Given the description of an element on the screen output the (x, y) to click on. 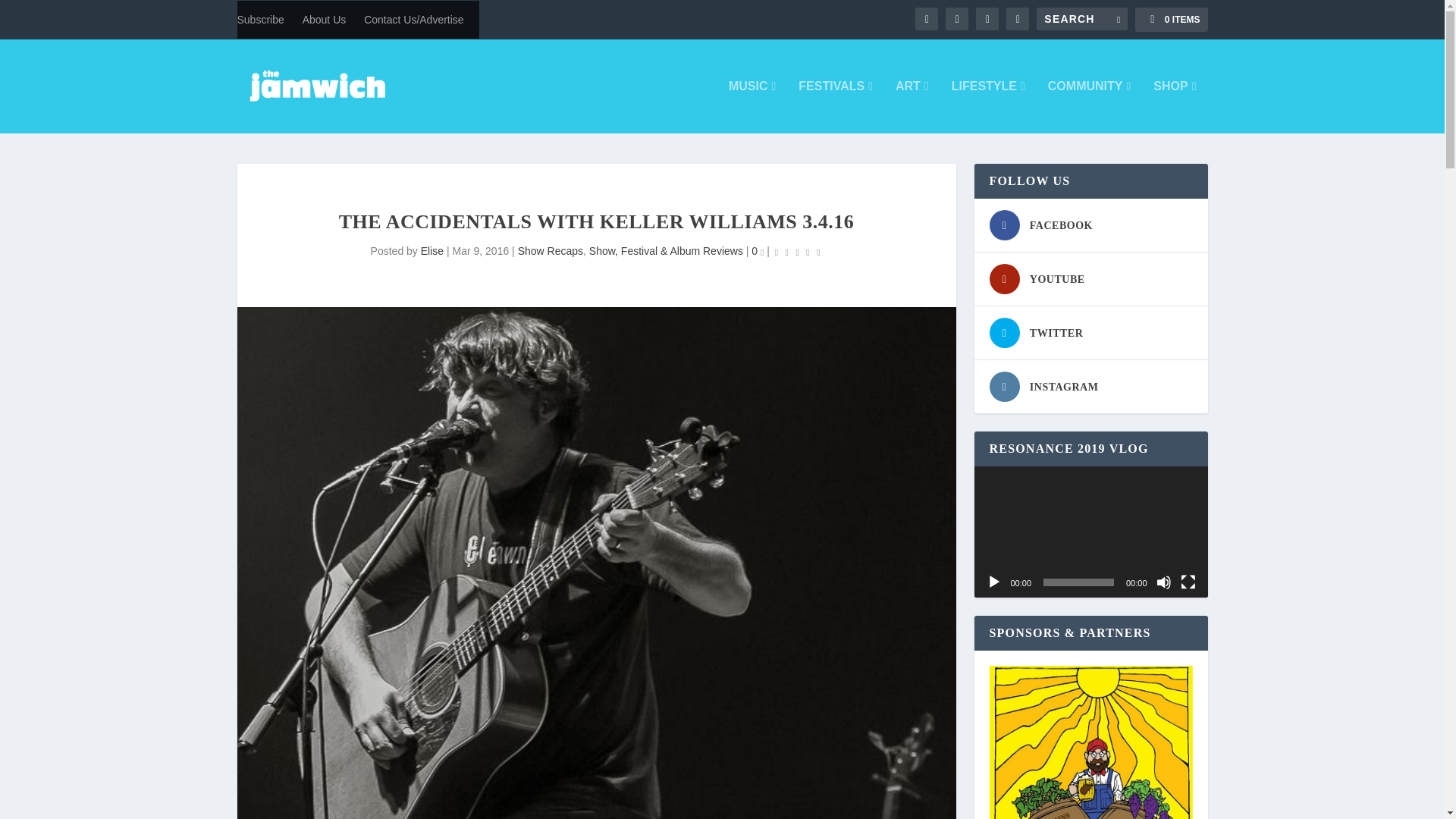
Rating: 0.00 (797, 251)
0 ITEMS (1171, 19)
0 Items in Cart (1171, 19)
COMMUNITY (1089, 106)
Posts by Elise (432, 250)
About Us (324, 19)
LIFESTYLE (988, 106)
Search for: (1081, 18)
FESTIVALS (834, 106)
Subscribe (259, 19)
